Given the description of an element on the screen output the (x, y) to click on. 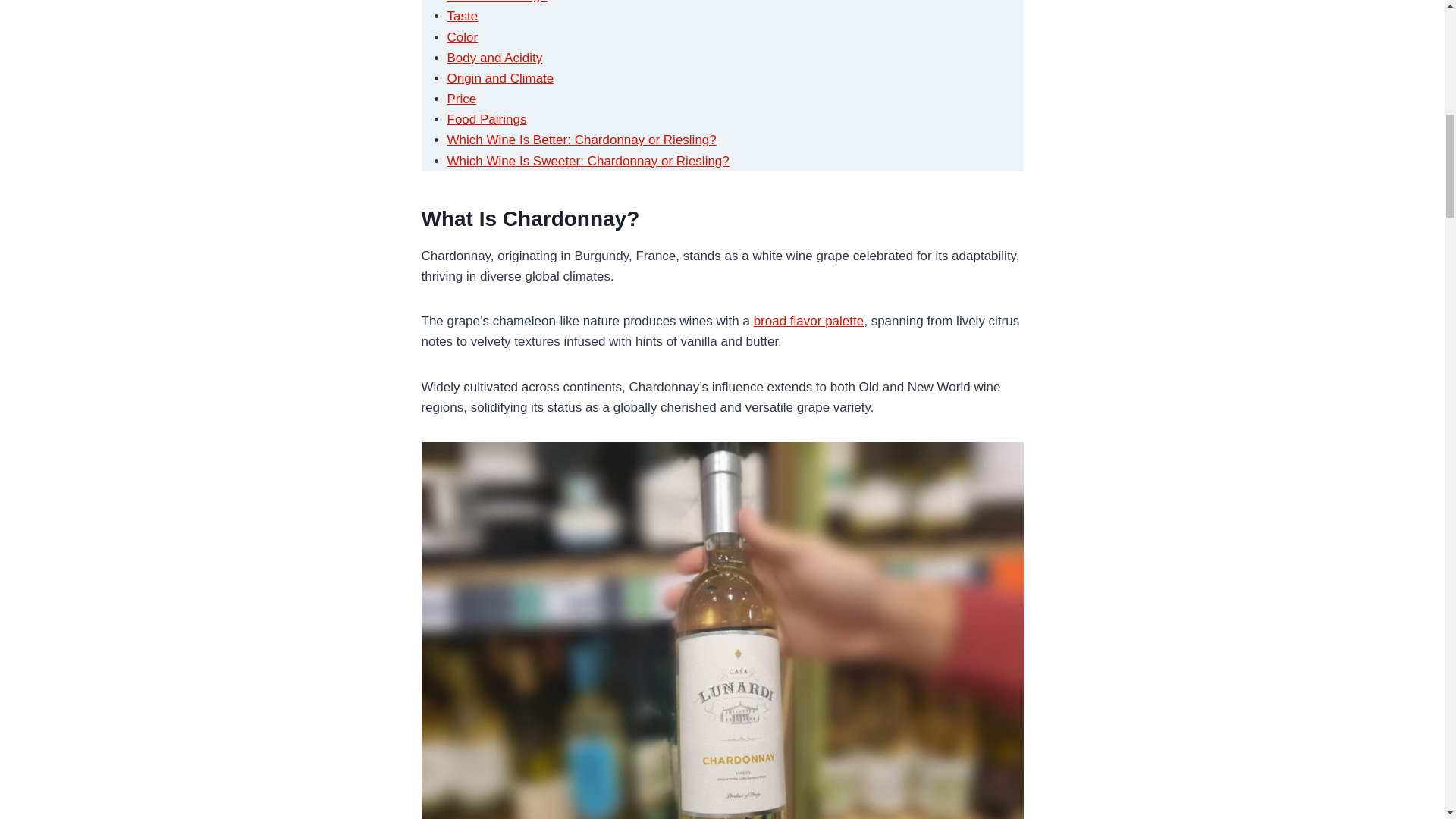
Which Wine Is Sweeter: Chardonnay or Riesling? (587, 160)
What Is Riesling? (496, 1)
Which Wine Is Better: Chardonnay or Riesling? (581, 139)
Color (462, 37)
Taste (462, 16)
broad flavor palette (809, 320)
Body and Acidity (494, 57)
Price (461, 98)
Origin and Climate (500, 78)
Food Pairings (486, 119)
